Given the description of an element on the screen output the (x, y) to click on. 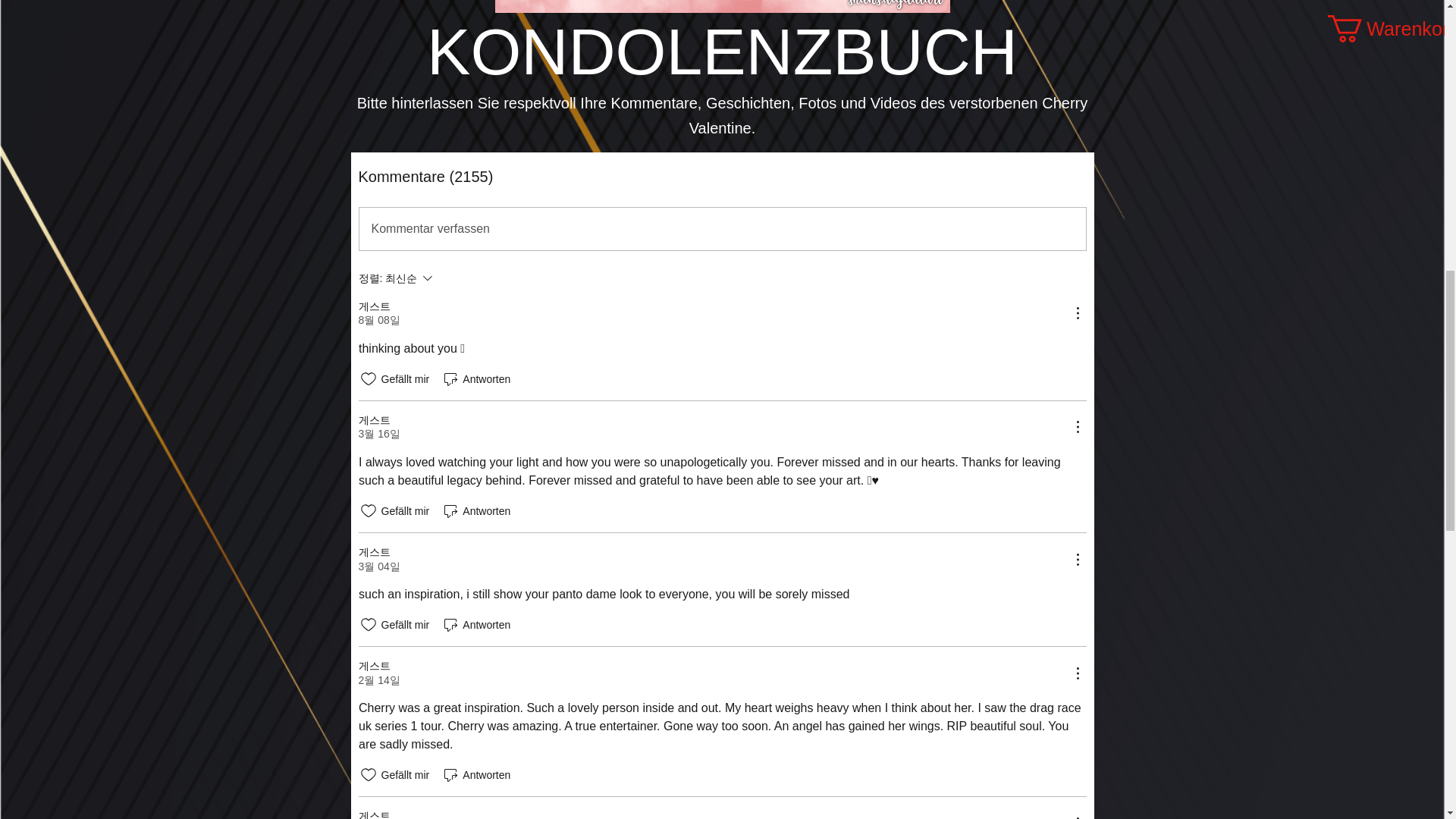
Antworten (476, 774)
Antworten (476, 379)
Antworten (476, 624)
Antworten (476, 511)
Kommentar verfassen (722, 229)
